Given the description of an element on the screen output the (x, y) to click on. 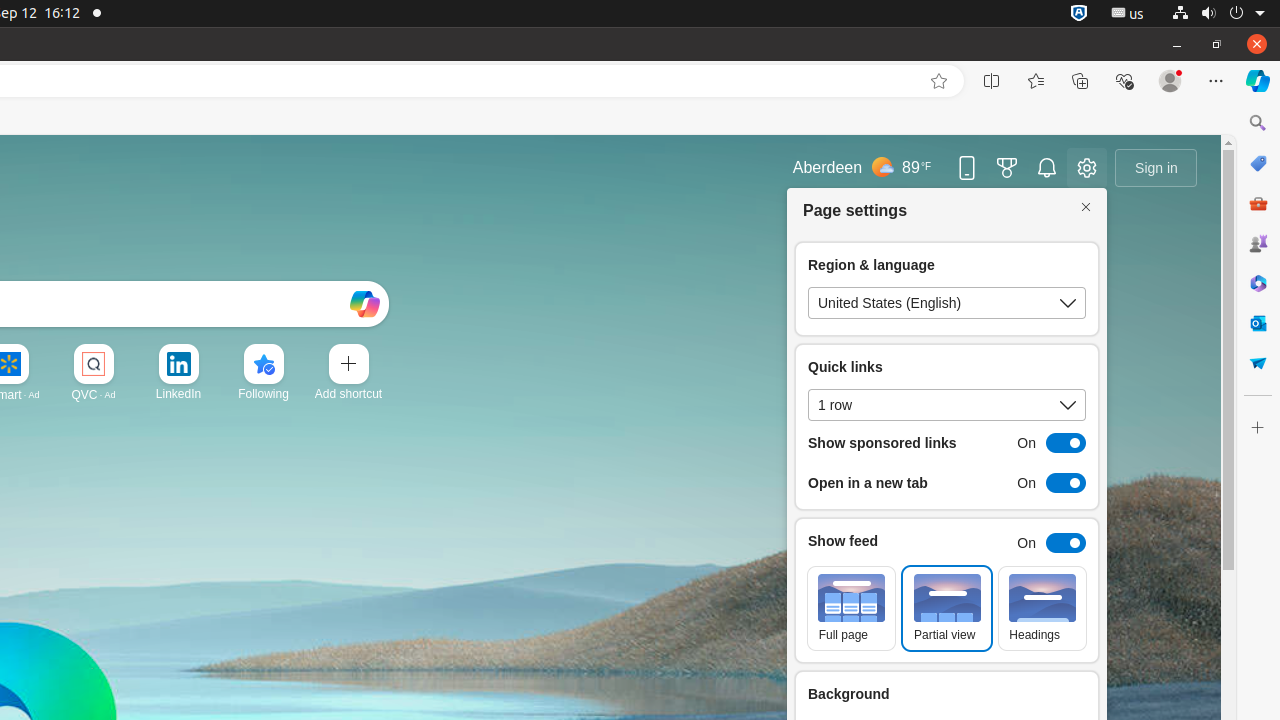
Microsoft rewards Element type: push-button (1007, 168)
More Options Element type: push-button (296, 350)
Show sponsored links On Element type: toggle-button (947, 443)
Copilot (Ctrl+Shift+.) Element type: push-button (1258, 81)
Settings and more (Alt+F) Element type: push-button (1216, 81)
